Given the description of an element on the screen output the (x, y) to click on. 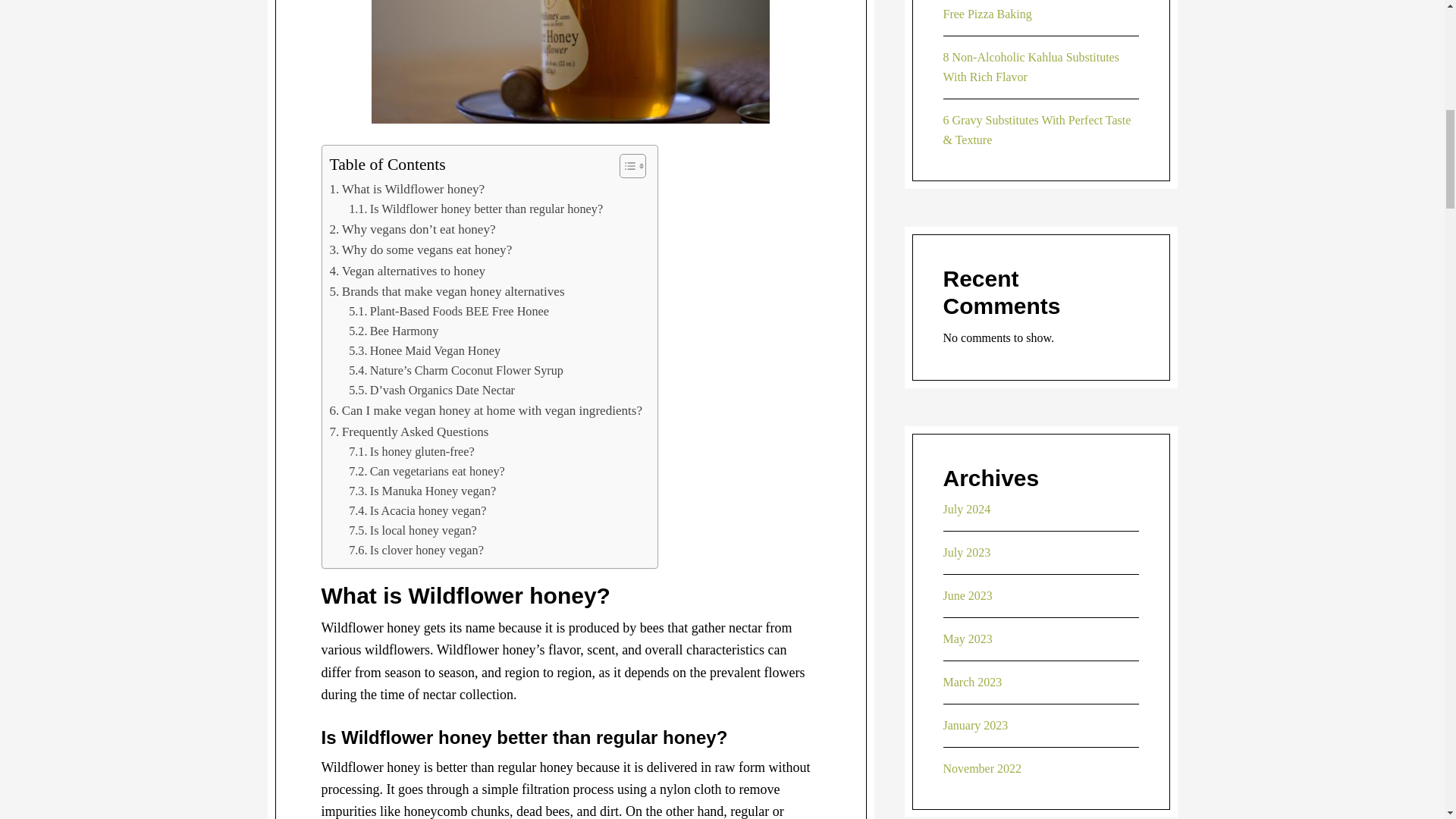
Bee Harmony (393, 331)
What is Wildflower honey? (406, 189)
Bee Harmony (393, 331)
Vegan alternatives to honey (406, 271)
Can vegetarians eat honey? (427, 471)
Is Acacia honey vegan? (417, 510)
Brands that make vegan honey alternatives (446, 291)
Is honey gluten-free? (411, 451)
Is Wildflower honey better than regular honey? (475, 209)
Frequently Asked Questions (408, 431)
